Given the description of an element on the screen output the (x, y) to click on. 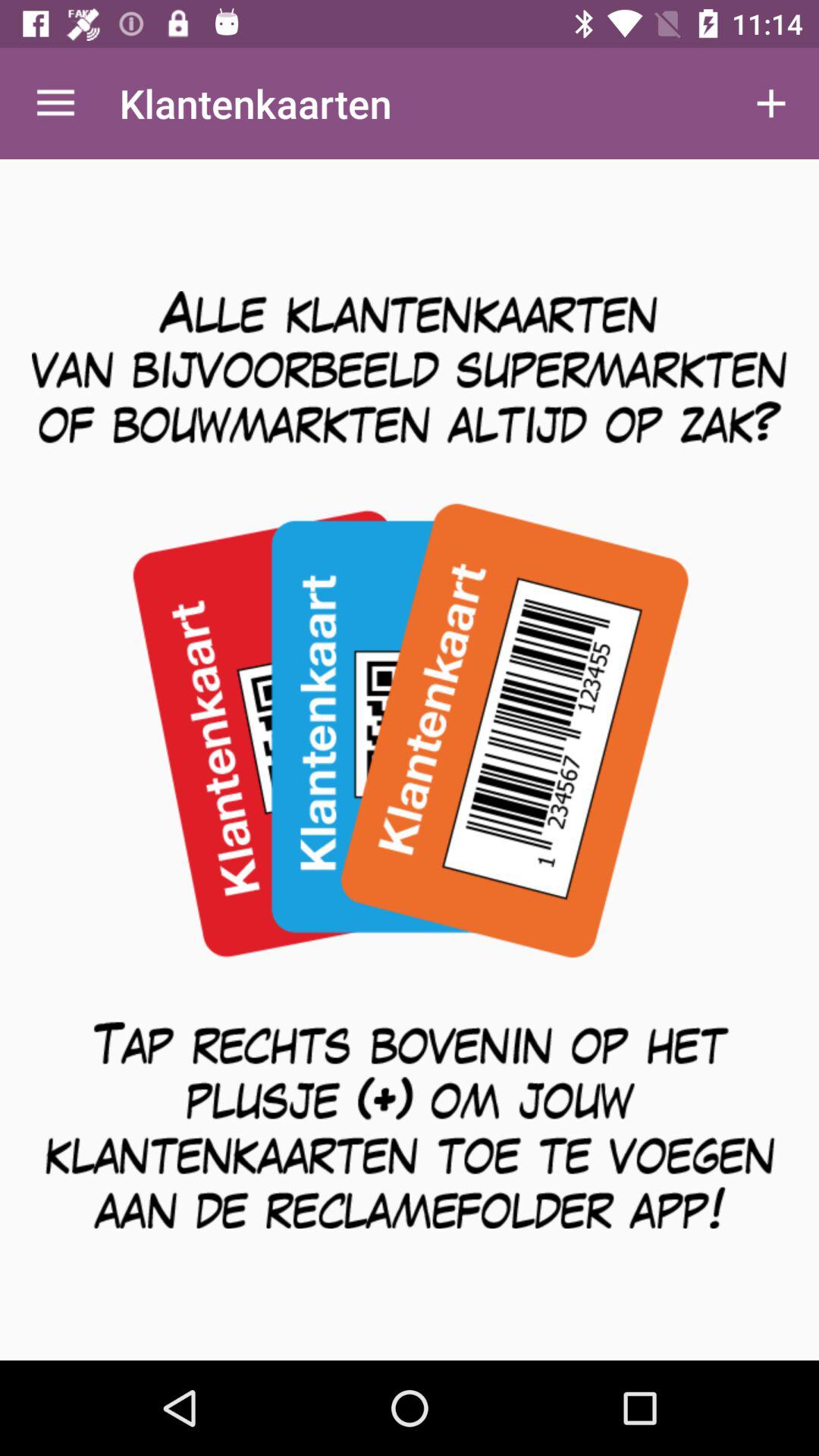
launch item at the center (409, 759)
